Given the description of an element on the screen output the (x, y) to click on. 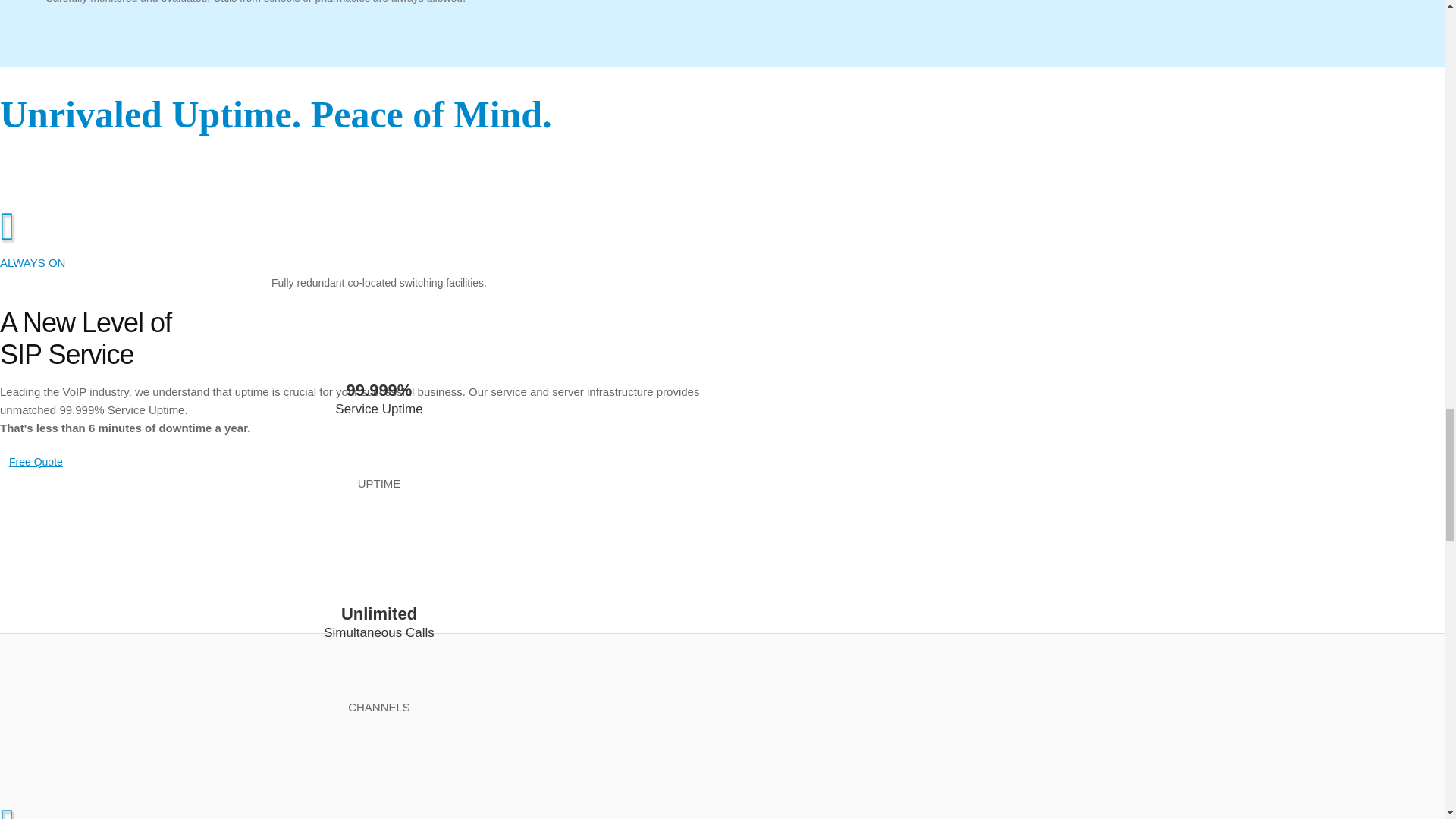
Free Quote (35, 461)
